Given the description of an element on the screen output the (x, y) to click on. 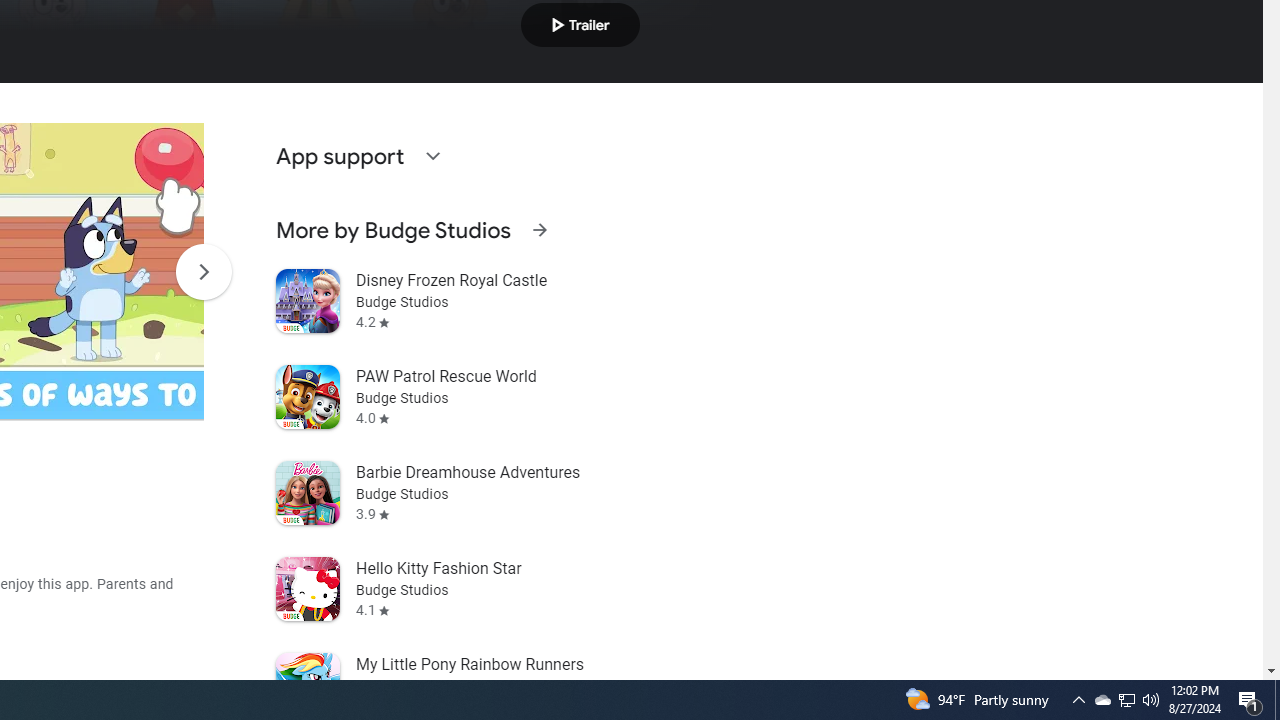
Expand (432, 155)
Play trailer (580, 24)
See more information on More by Budge Studios (539, 229)
Scroll Next (203, 272)
